Given the description of an element on the screen output the (x, y) to click on. 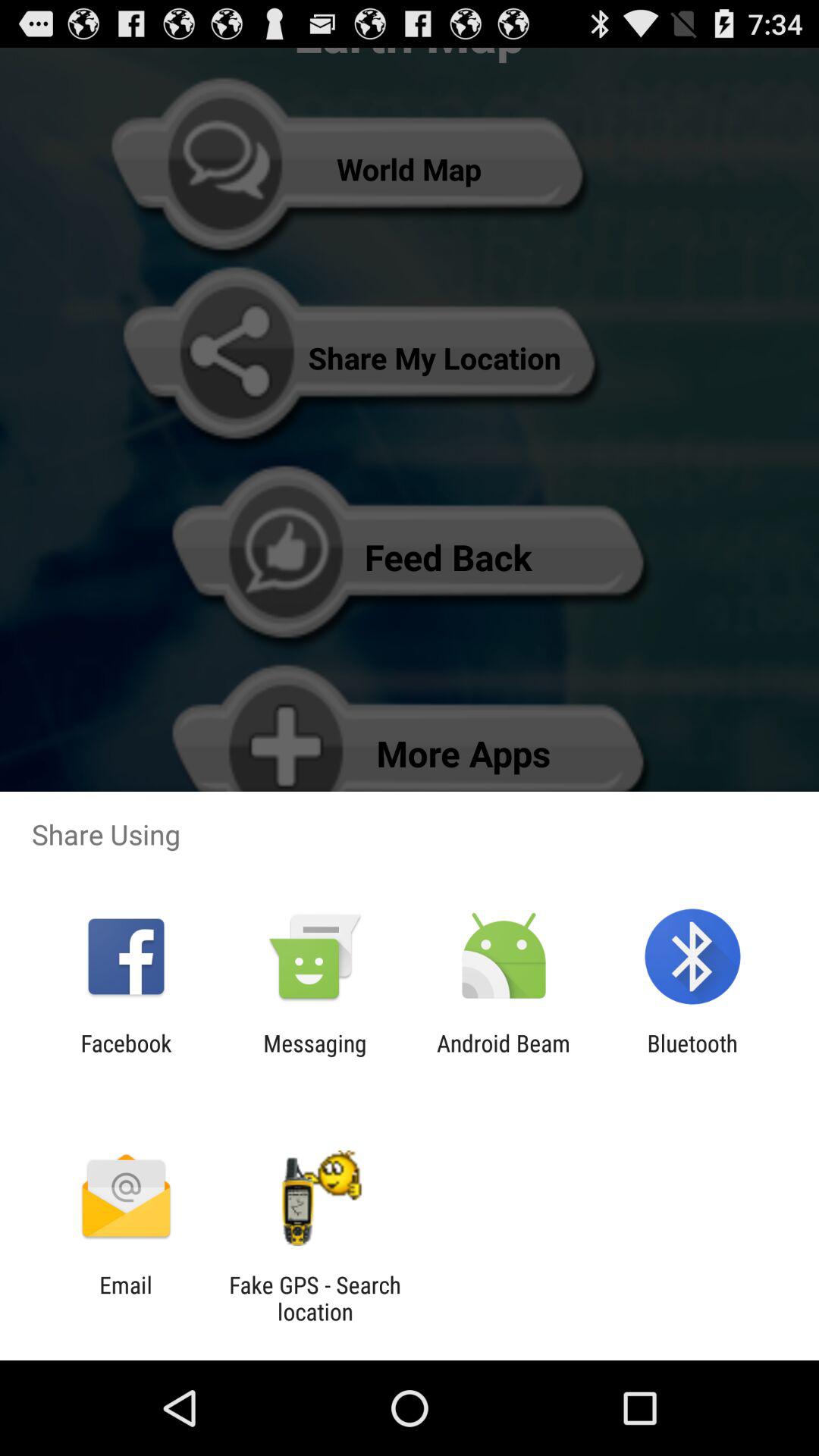
jump to bluetooth icon (692, 1056)
